Given the description of an element on the screen output the (x, y) to click on. 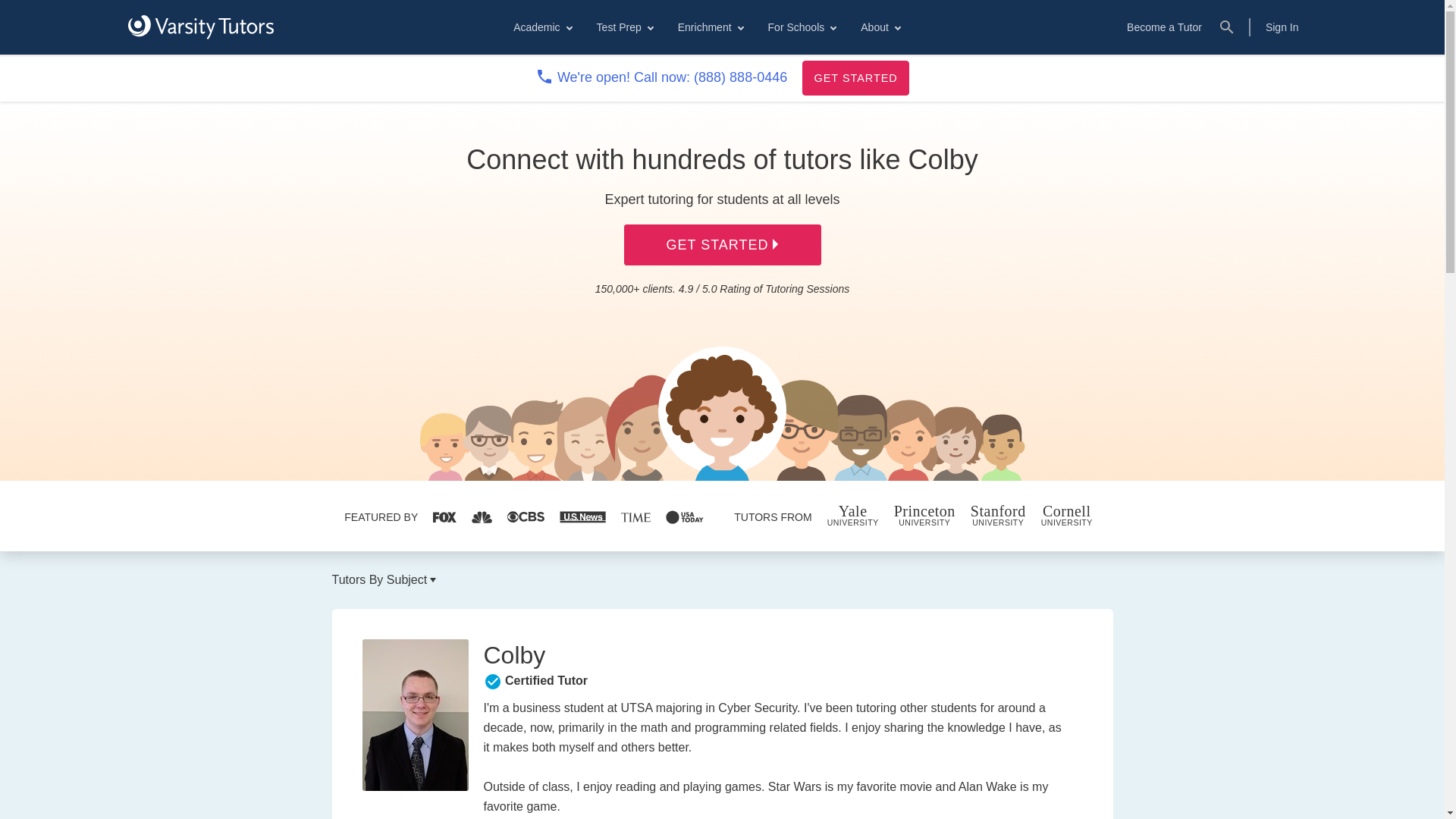
GET STARTED (855, 77)
Varsity Tutors (200, 26)
Varsity Tutors (200, 27)
Academic (541, 27)
